Given the description of an element on the screen output the (x, y) to click on. 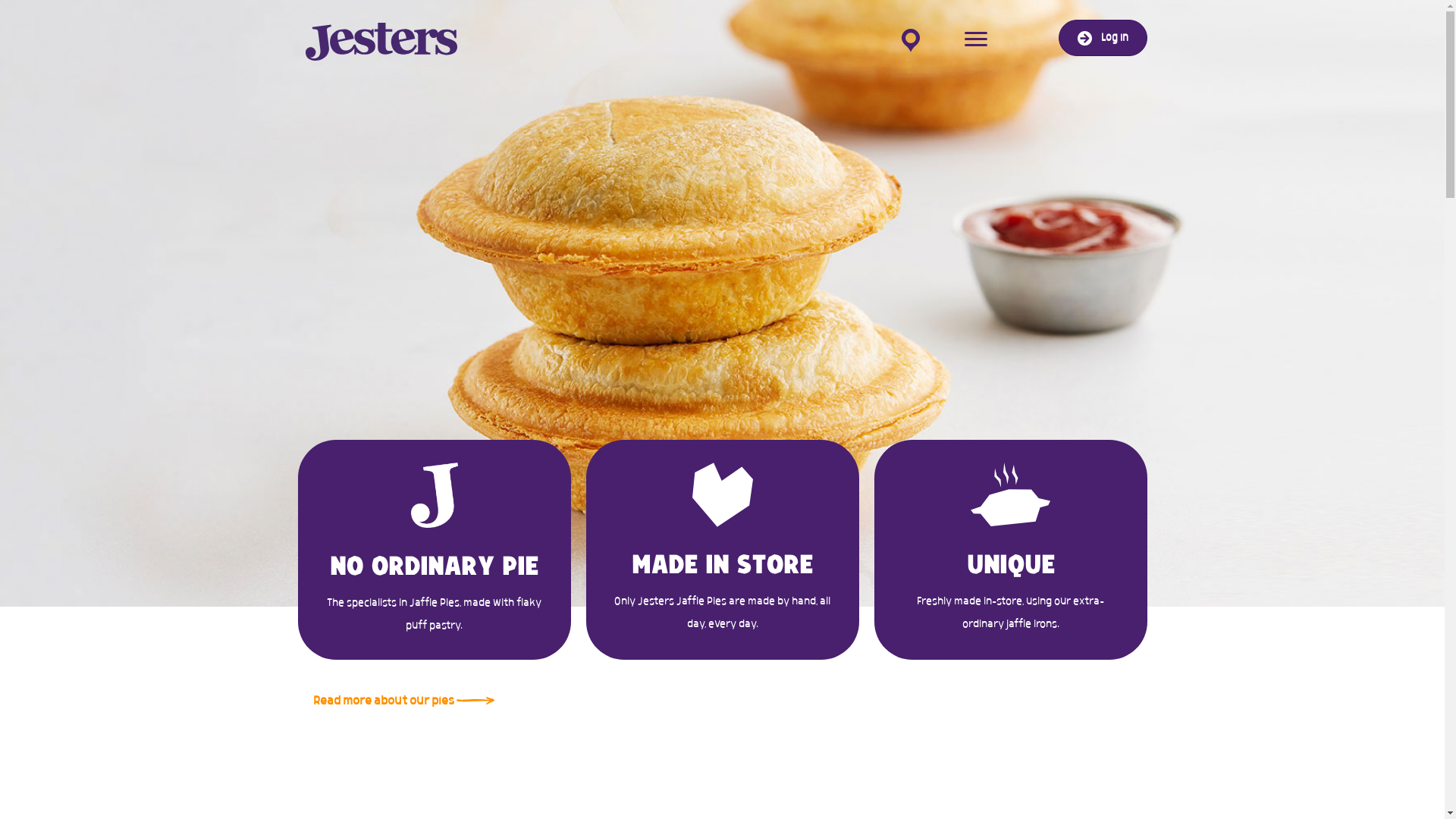
Jesters wide logo Element type: hover (380, 41)
Log In Element type: text (1102, 37)
Read more about our pies Element type: text (402, 701)
